Given the description of an element on the screen output the (x, y) to click on. 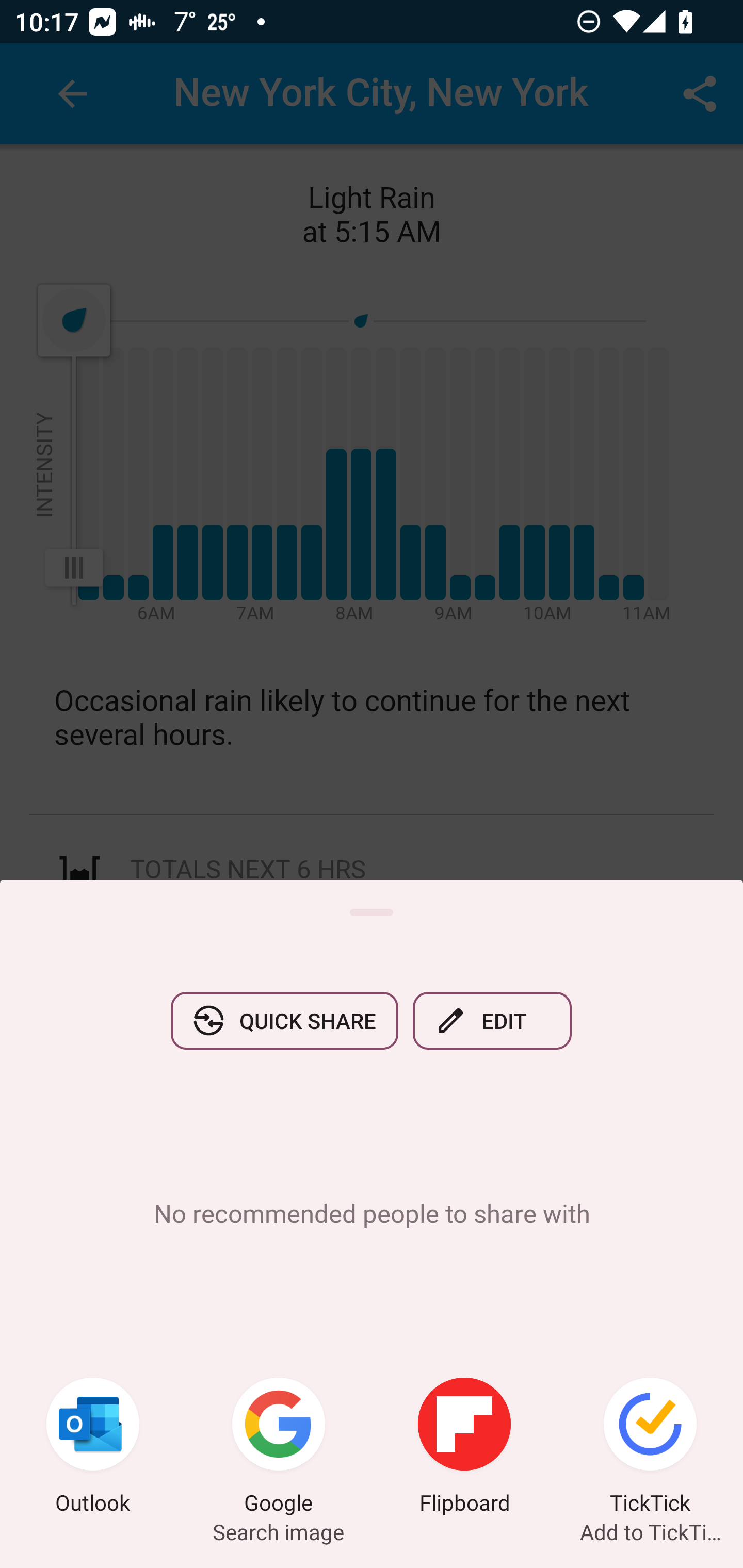
QUICK SHARE (284, 1020)
EDIT (492, 1020)
Outlook (92, 1448)
Google Search image (278, 1448)
Flipboard (464, 1448)
TickTick Add to TickTick (650, 1448)
